Given the description of an element on the screen output the (x, y) to click on. 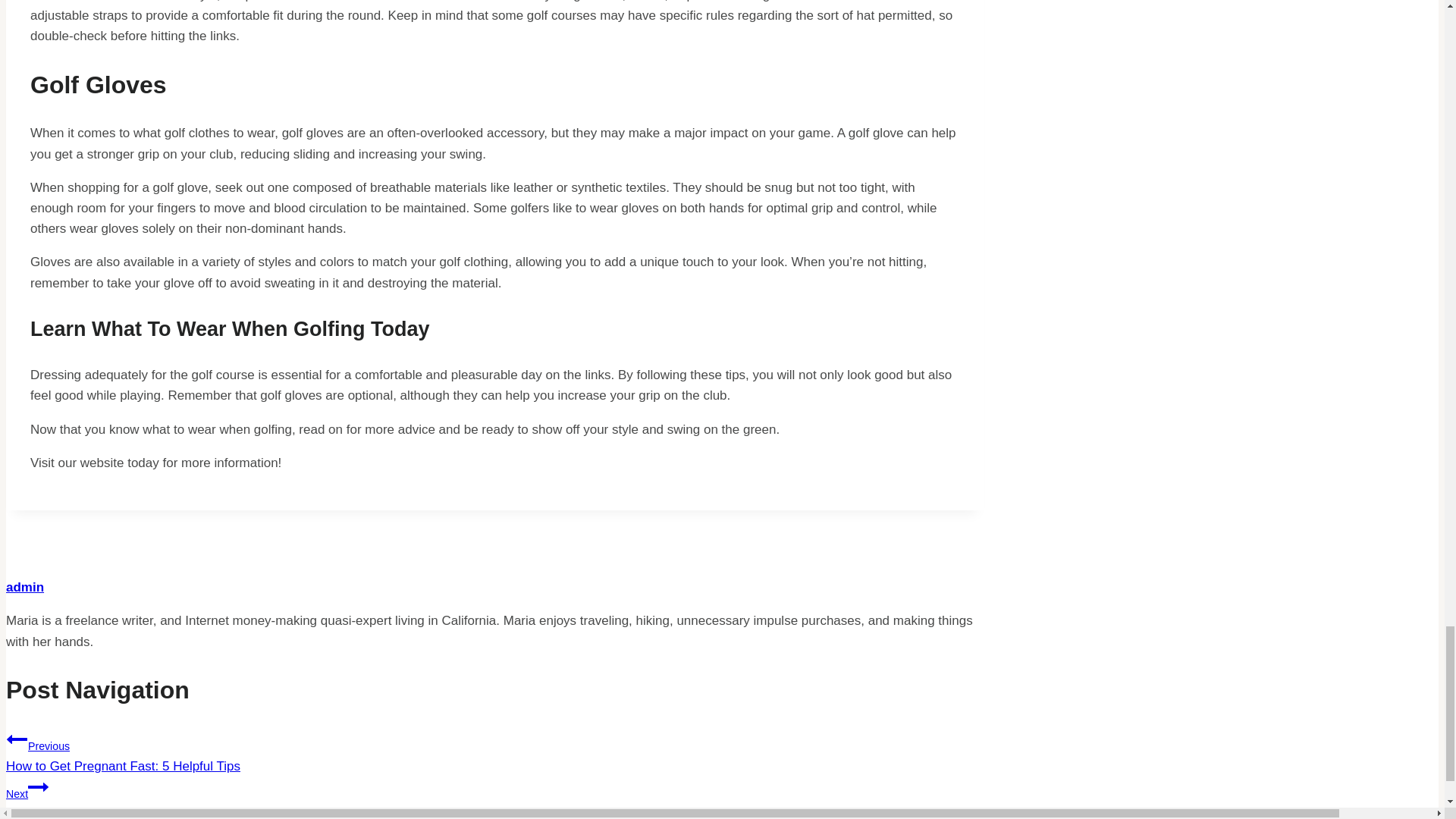
Posts by admin (24, 586)
Previous (16, 739)
Continue (37, 786)
admin (24, 586)
